Given the description of an element on the screen output the (x, y) to click on. 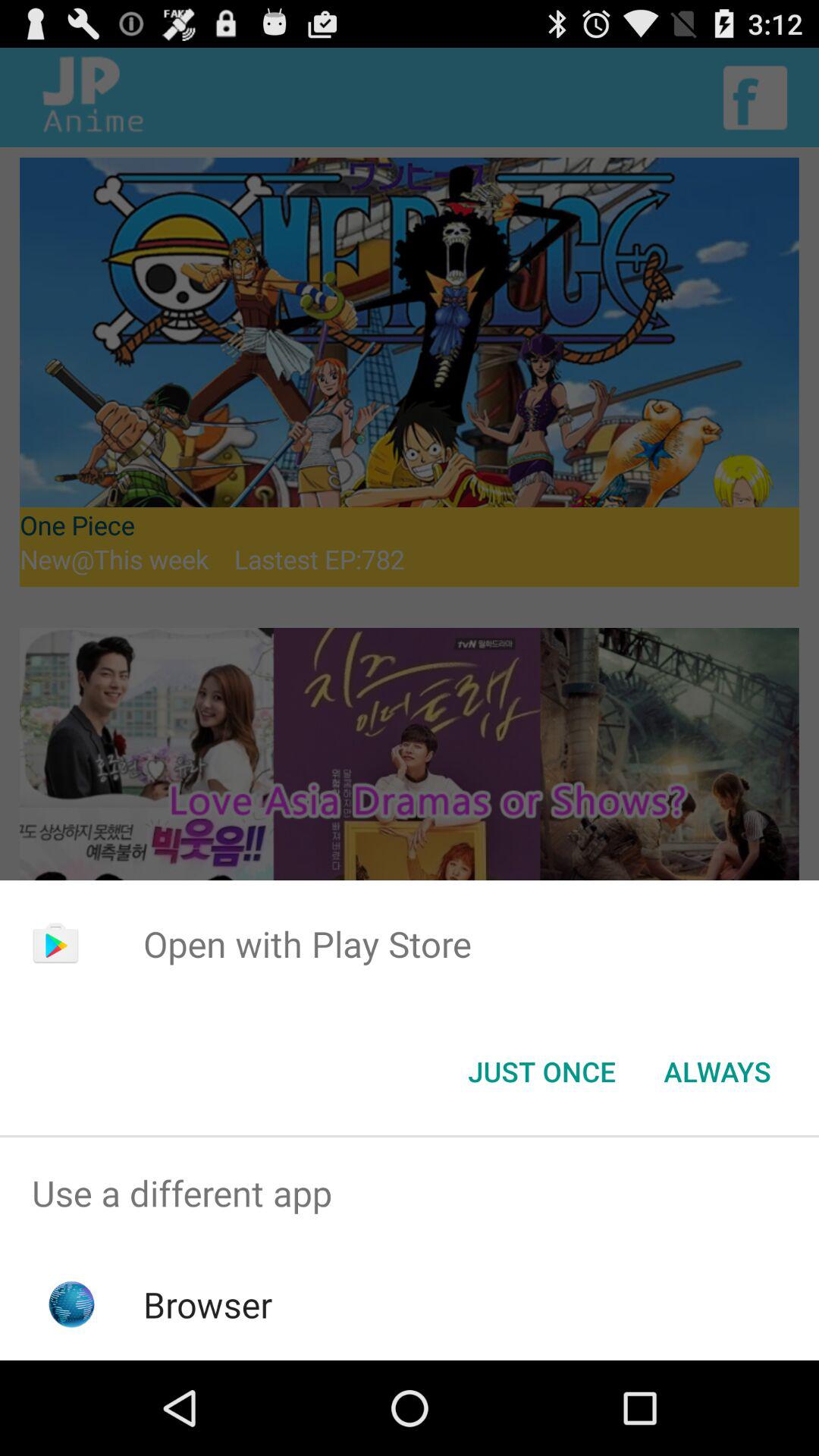
press app below the open with play (717, 1071)
